Given the description of an element on the screen output the (x, y) to click on. 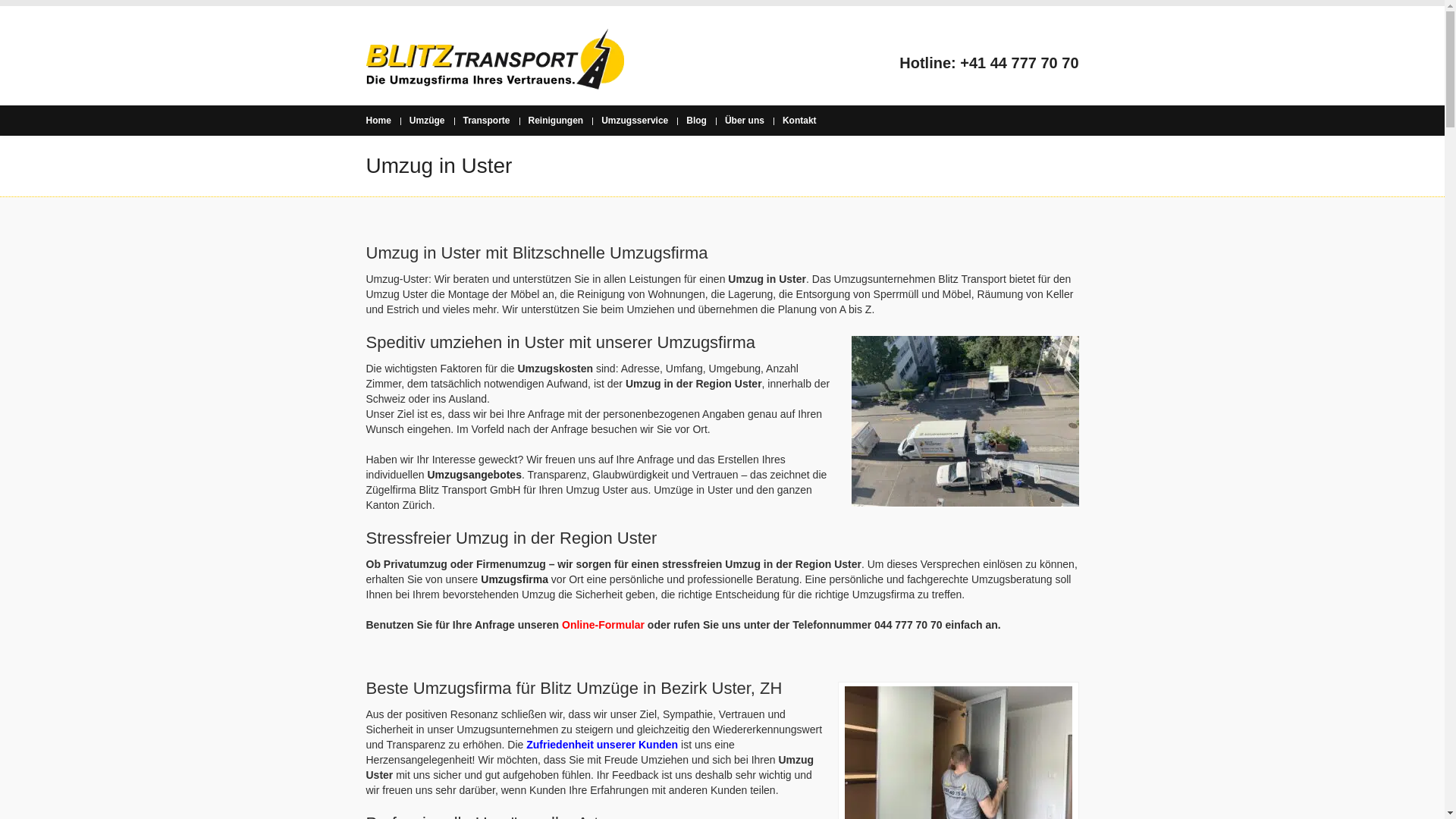
Home Element type: text (377, 120)
Blog Element type: text (696, 120)
Umzugsfirma Element type: text (514, 579)
Reinigungen Element type: text (556, 120)
Kontakt Element type: text (799, 120)
Zufriedenheit unserer Kunden Element type: text (601, 744)
Transporte Element type: text (486, 120)
Online-Formular Element type: text (602, 624)
Umzugsangebotes Element type: text (473, 474)
Umzugsfirma Uster Element type: hover (964, 420)
Umzugsservice Element type: text (634, 120)
